Given the description of an element on the screen output the (x, y) to click on. 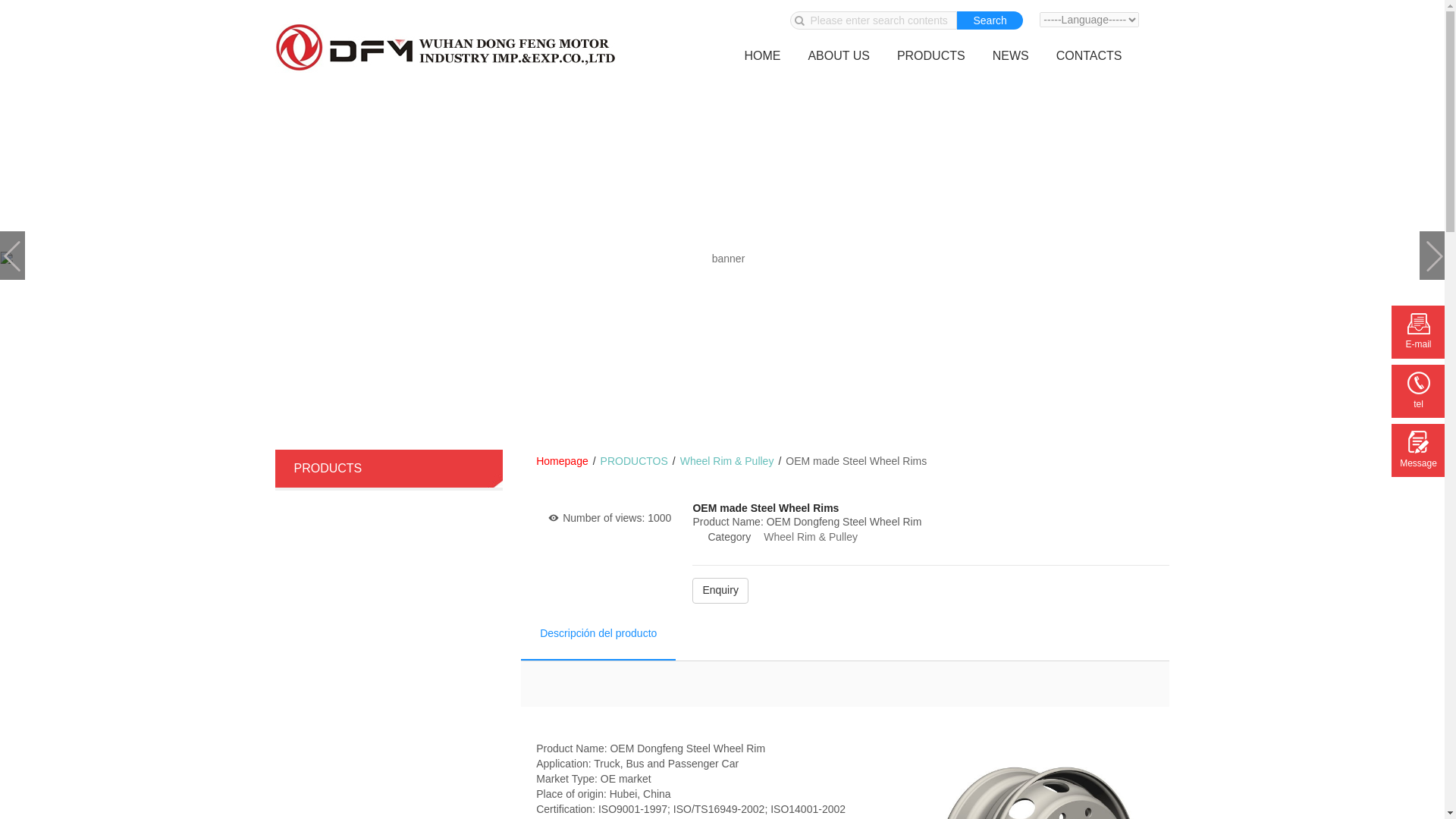
PRODUCTS (930, 55)
Enquiry (720, 593)
ABOUT US (838, 55)
HOME (761, 55)
NEWS (1010, 55)
Enquiry (720, 590)
CONTACTS (1088, 55)
Homepage (561, 460)
PRODUCTOS (633, 460)
